Given the description of an element on the screen output the (x, y) to click on. 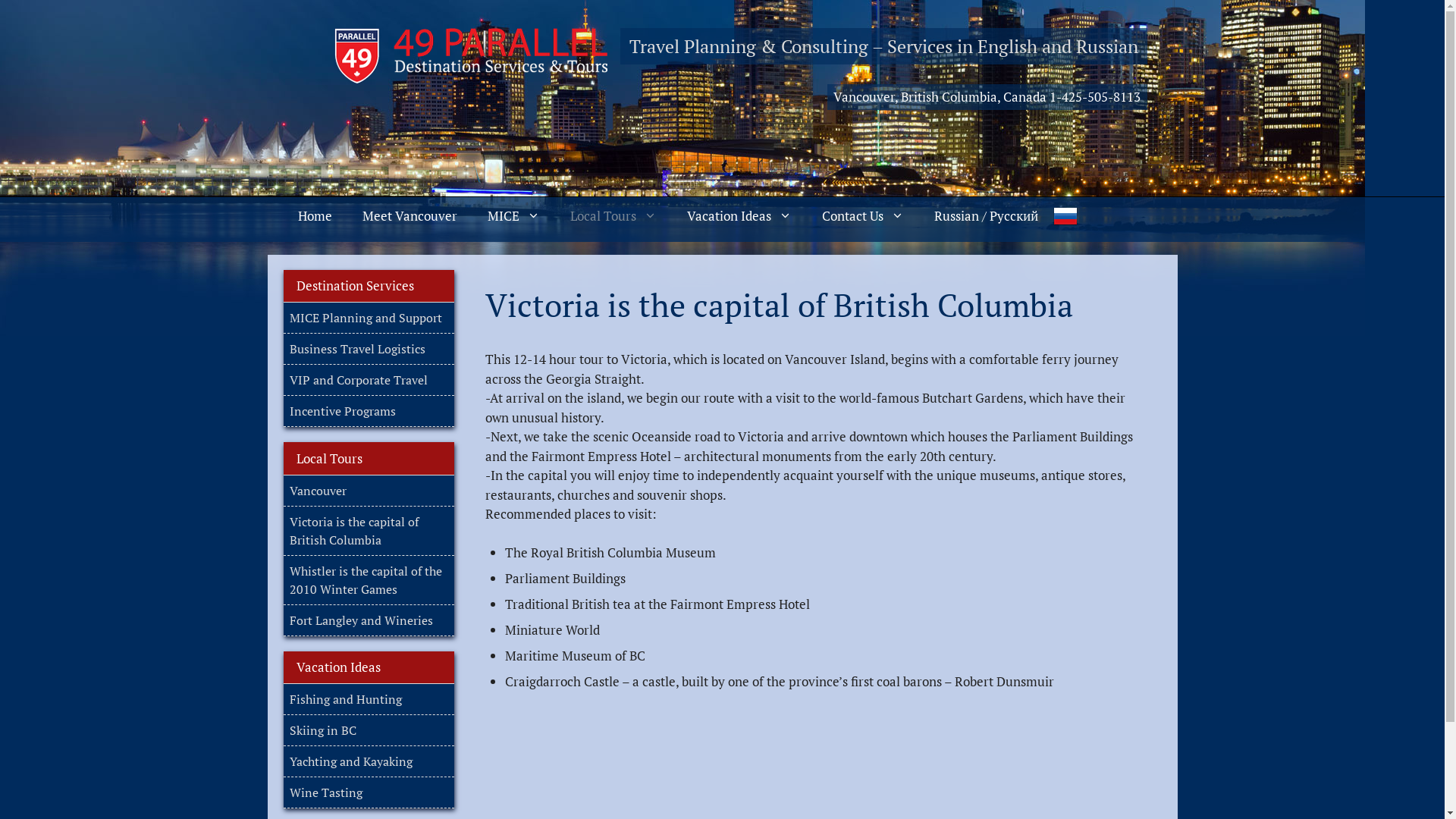
Whistler is the capital of the 2010 Winter Games Element type: text (365, 579)
Fort Langley and Wineries Element type: text (361, 619)
Business Travel Logistics Element type: text (357, 348)
1-425-505-8113 Element type: text (1094, 96)
Local Tours Element type: text (613, 216)
Home Element type: text (314, 216)
MICE Element type: text (512, 216)
Incentive Programs Element type: text (342, 410)
MICE Planning and Support Element type: text (365, 317)
Contact Us Element type: text (862, 216)
Victoria is the capital of British Columbia Element type: text (353, 529)
VIP and Corporate Travel Element type: text (358, 379)
Meet Vancouver Element type: text (409, 216)
Vacation Ideas Element type: text (738, 216)
Vancouver Element type: text (317, 490)
